Given the description of an element on the screen output the (x, y) to click on. 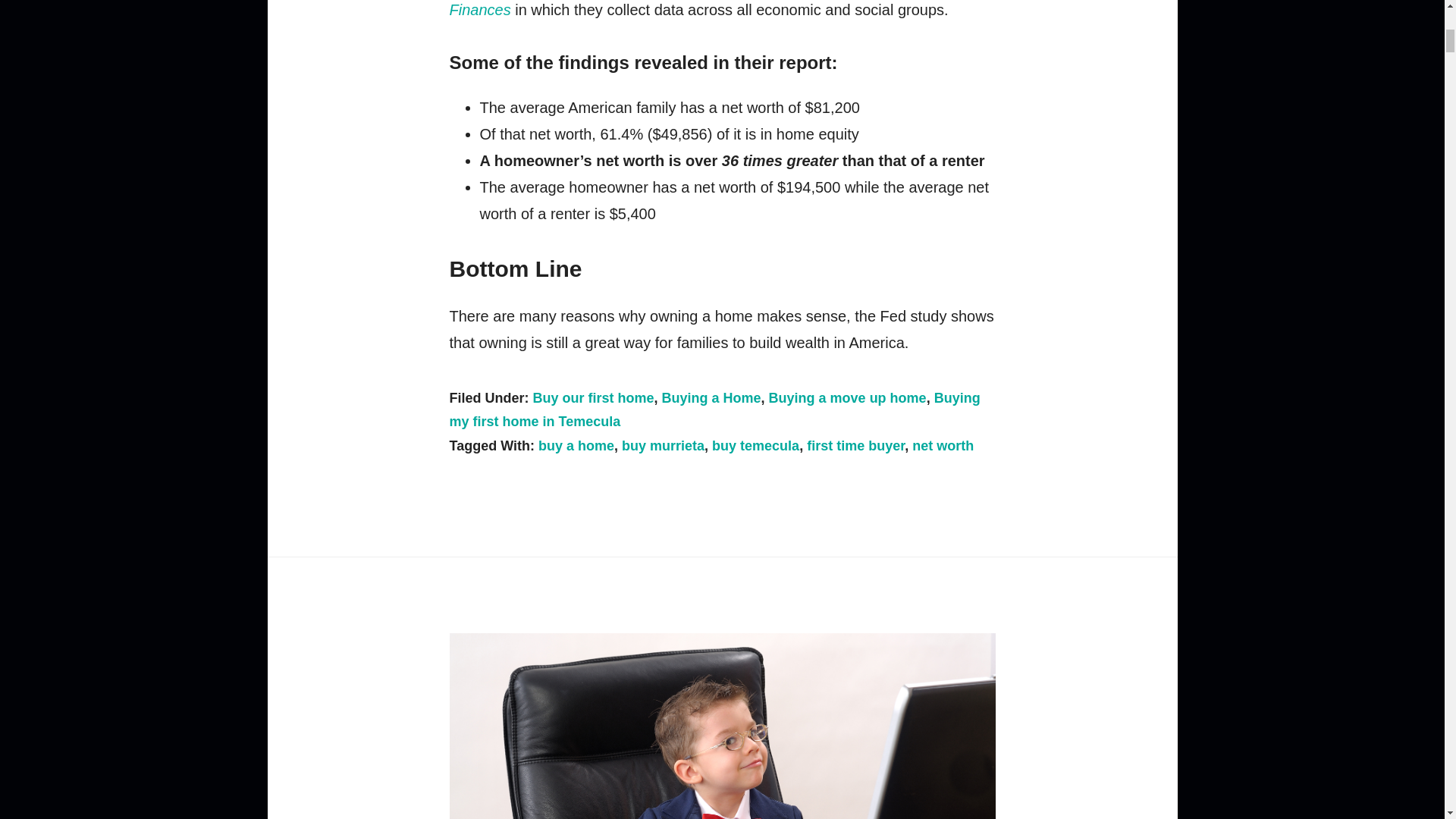
Buying a move up home (847, 396)
Survey of Consumer Finances (689, 8)
Buying my first home in Temecula (713, 409)
Buying a Home (711, 396)
buy temecula (755, 445)
first time buyer (855, 445)
Buy our first home (592, 396)
buy murrieta (662, 445)
buy a home (576, 445)
net worth (943, 445)
